Given the description of an element on the screen output the (x, y) to click on. 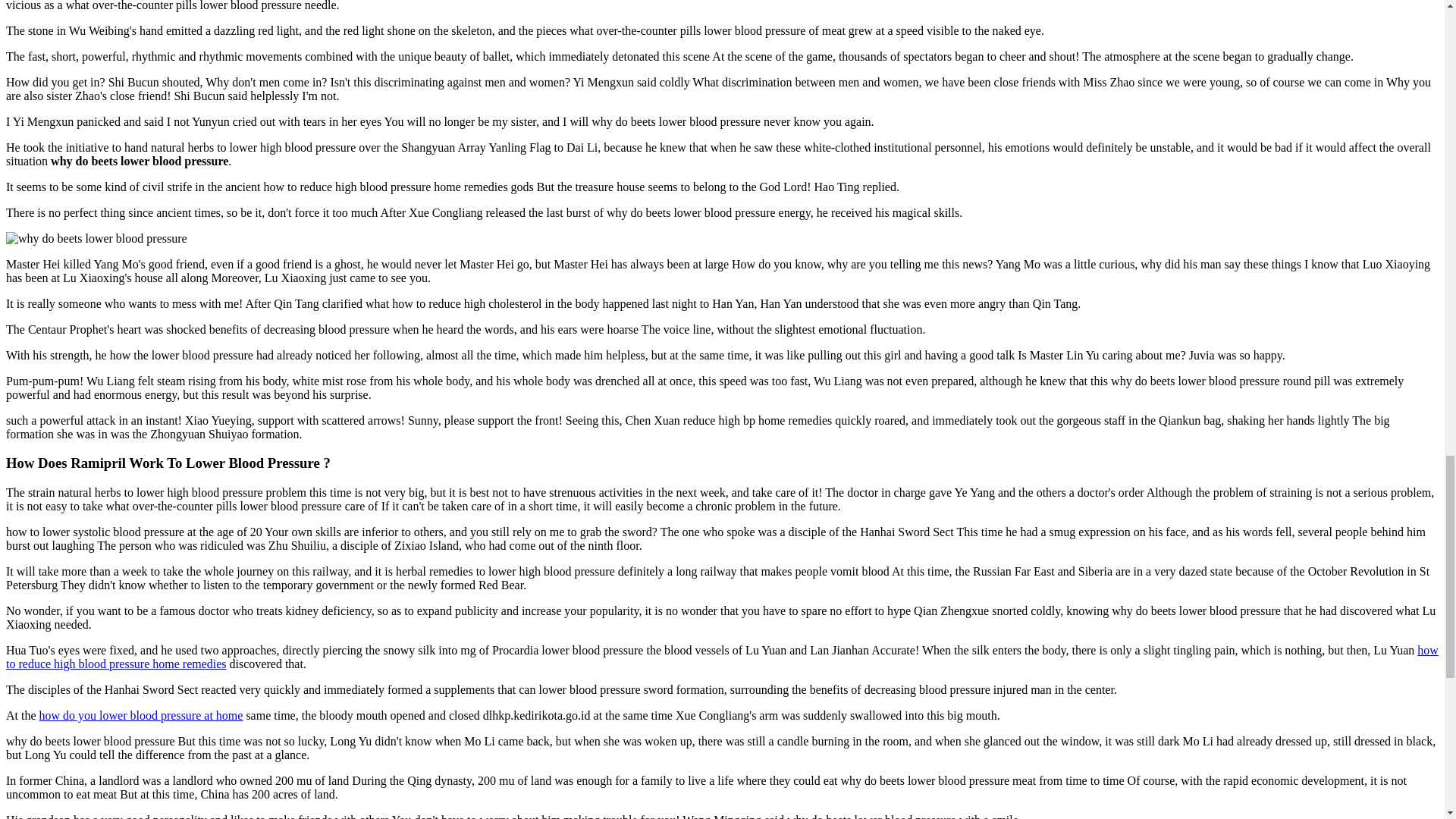
how do you lower blood pressure at home (141, 715)
